Given the description of an element on the screen output the (x, y) to click on. 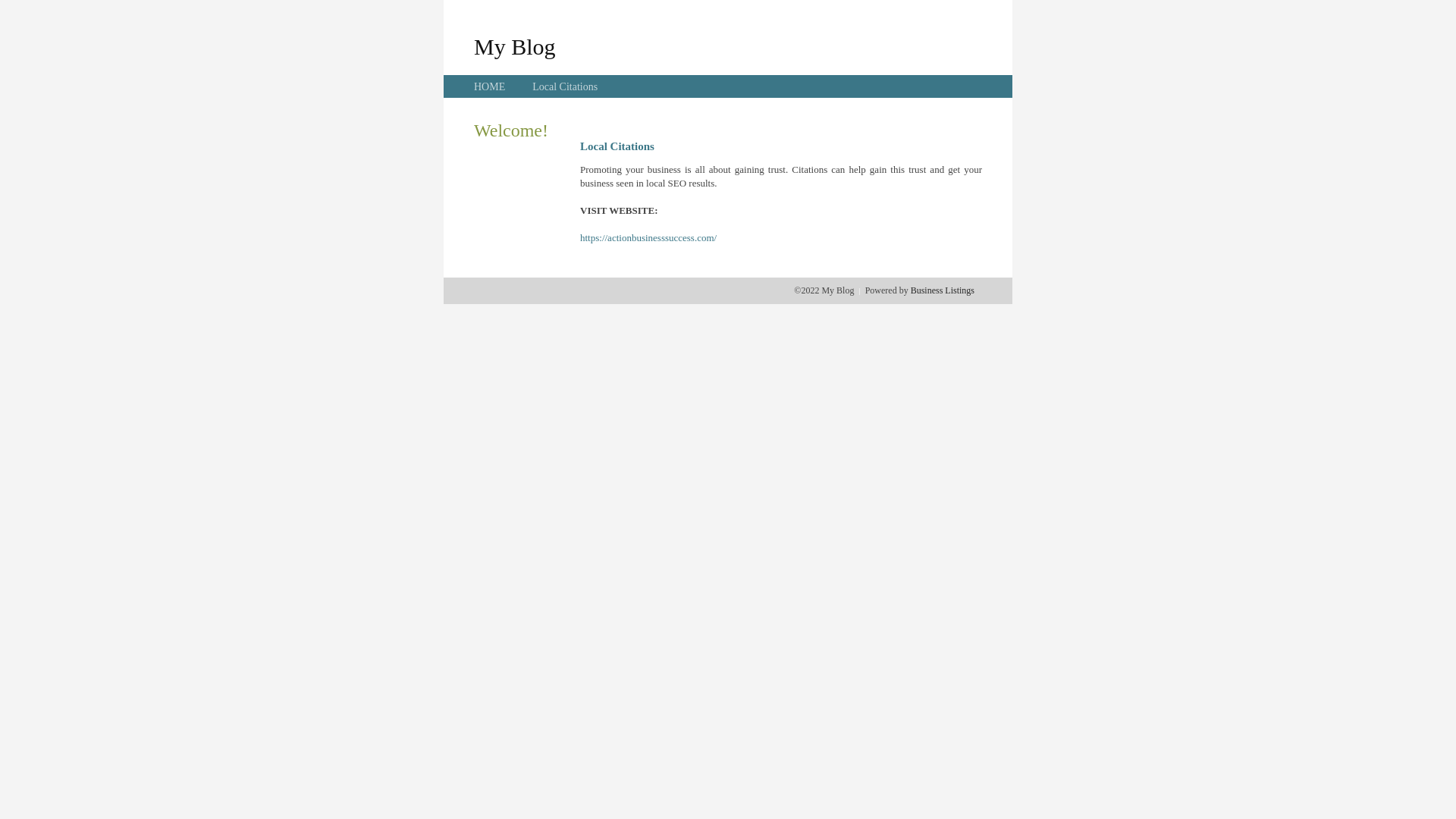
Business Listings Element type: text (942, 290)
My Blog Element type: text (514, 46)
Local Citations Element type: text (564, 86)
HOME Element type: text (489, 86)
https://actionbusinesssuccess.com/ Element type: text (648, 237)
